Given the description of an element on the screen output the (x, y) to click on. 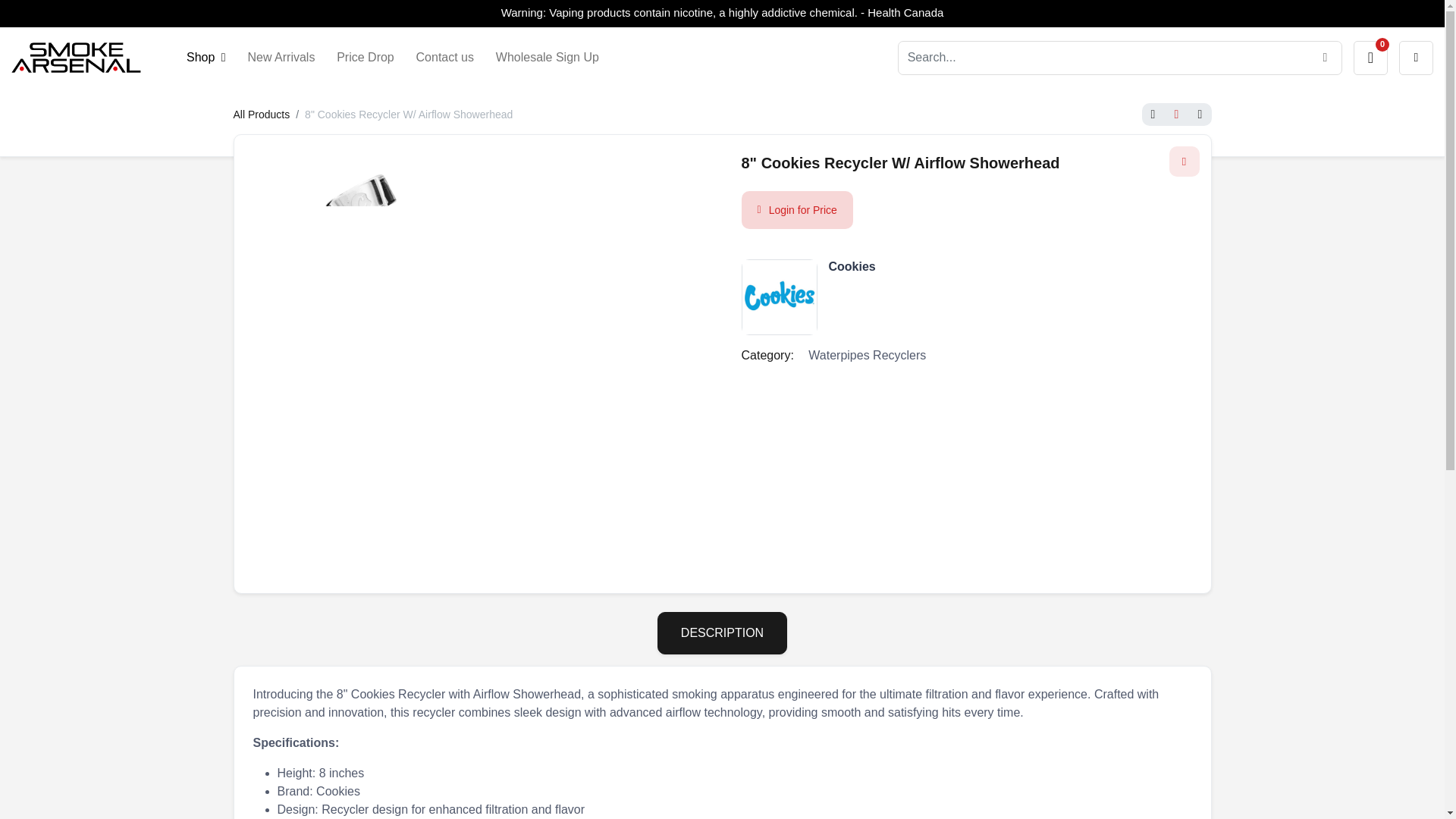
Shop (206, 57)
Search (1324, 57)
Smoke Arsenal (76, 57)
